Given the description of an element on the screen output the (x, y) to click on. 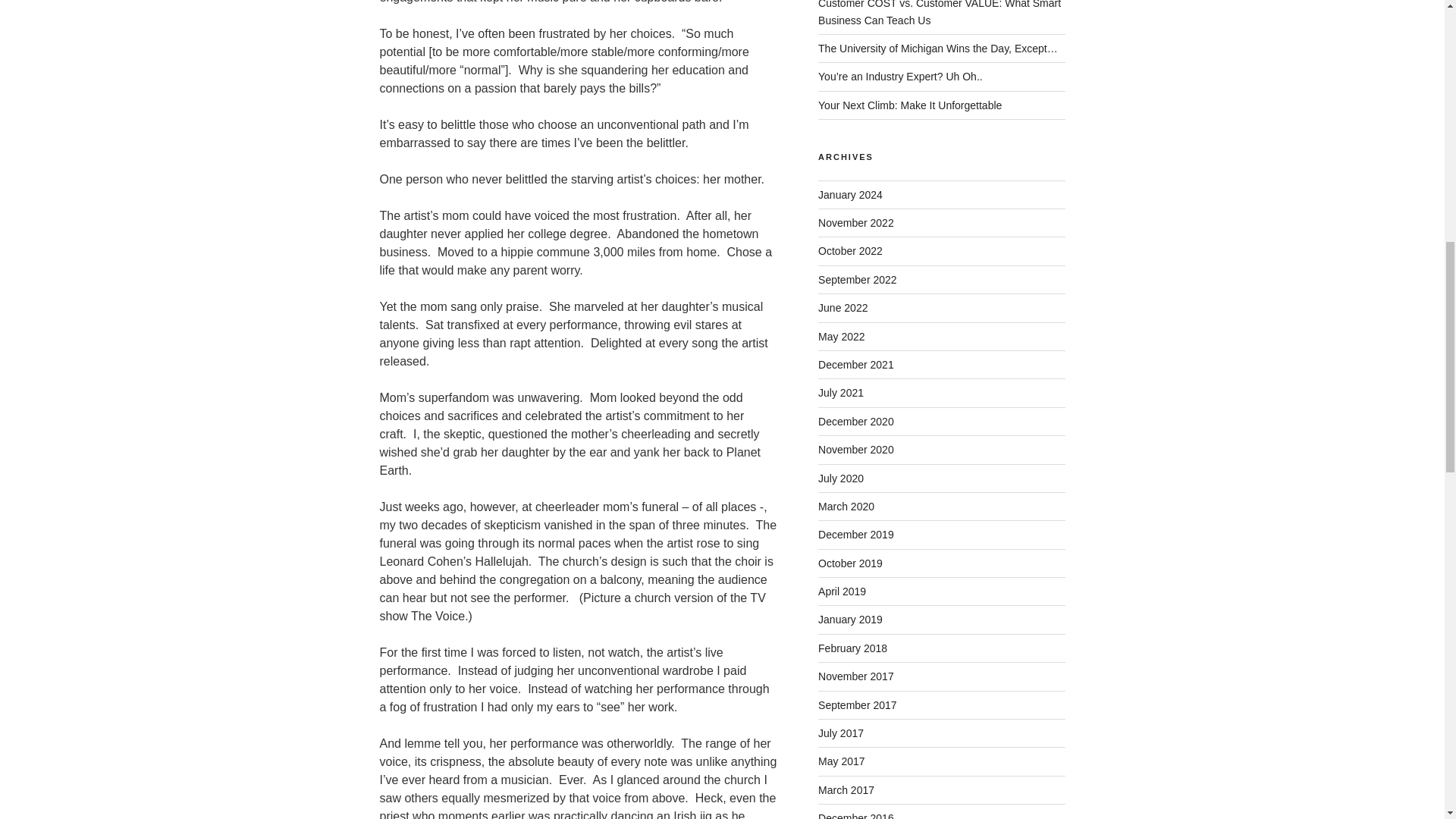
October 2022 (850, 250)
May 2017 (841, 761)
December 2016 (855, 815)
September 2017 (857, 705)
November 2022 (855, 223)
September 2022 (857, 279)
October 2019 (850, 563)
July 2021 (840, 392)
December 2019 (855, 534)
